Given the description of an element on the screen output the (x, y) to click on. 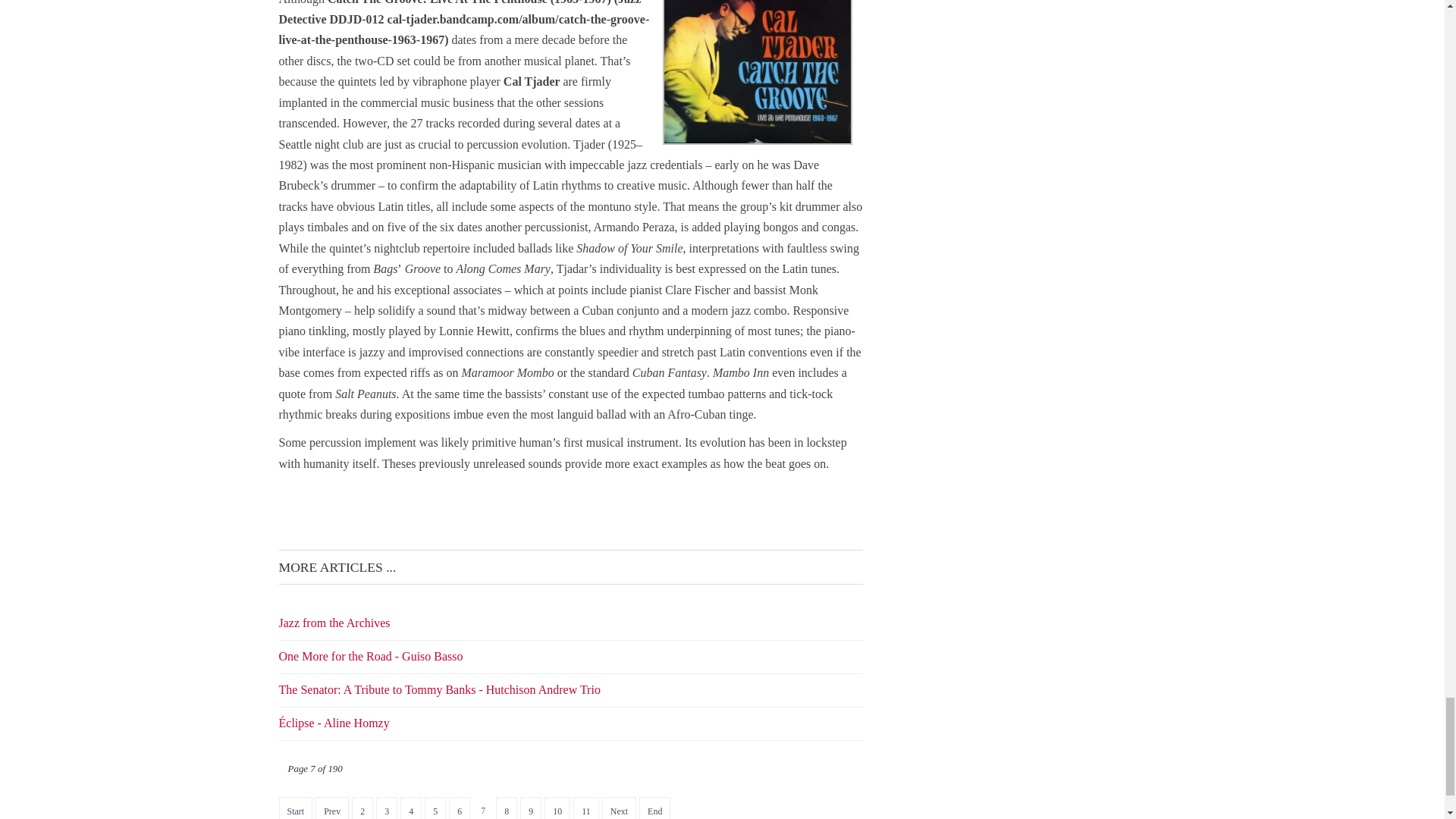
6 (459, 807)
8 (506, 807)
4 (411, 807)
3 (386, 807)
5 (435, 807)
Prev (332, 807)
9 (530, 807)
Start (296, 807)
2 (362, 807)
